Given the description of an element on the screen output the (x, y) to click on. 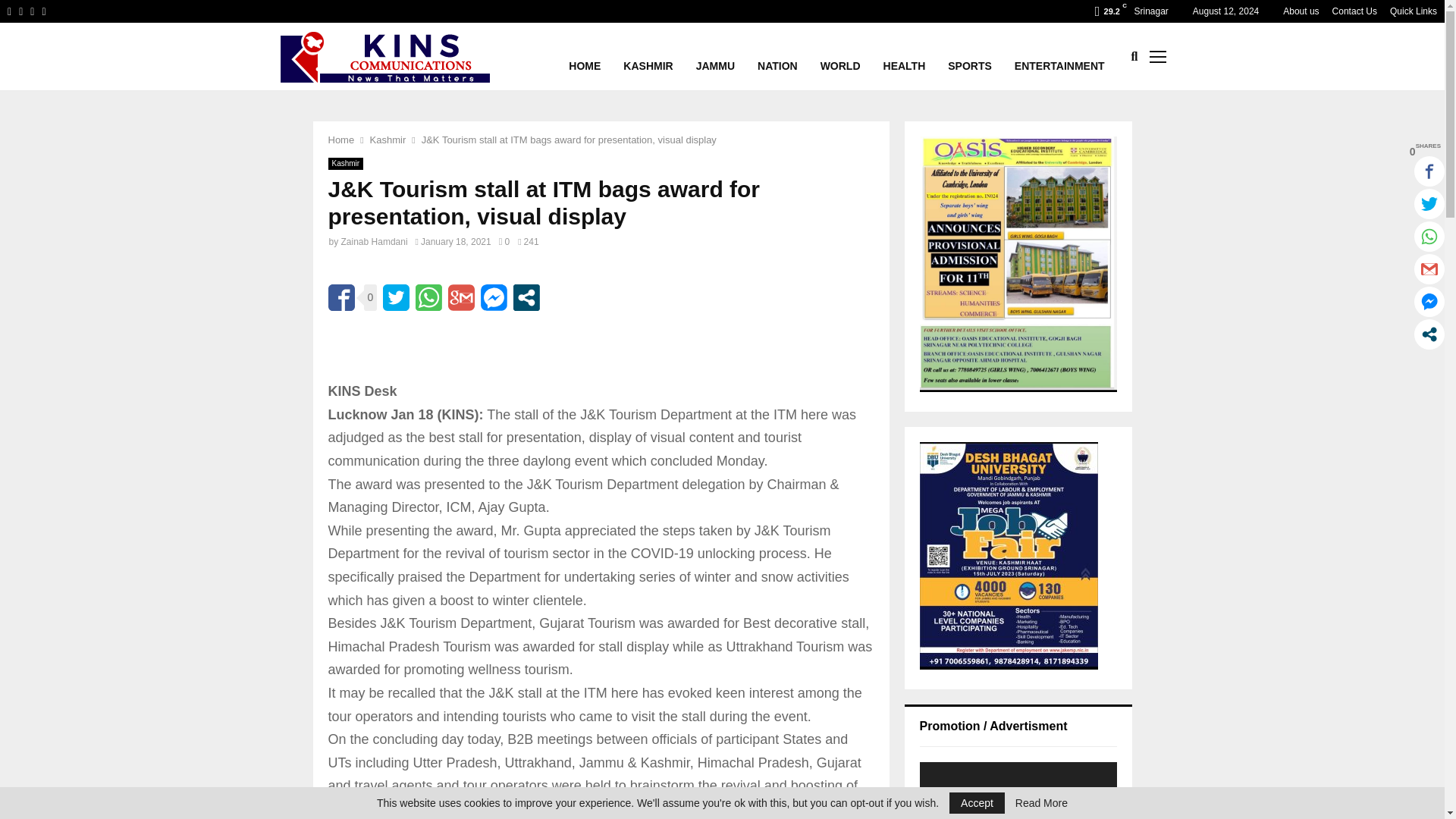
About us (1300, 11)
Home (340, 139)
Zainab Hamdani (373, 241)
Quick Links (1413, 11)
Kashmir (387, 139)
Open modal social networks (526, 297)
Contact Us (1354, 11)
ENTERTAINMENT (1059, 56)
Share on WhatsApp (428, 297)
Send on Facebook Messenger (493, 297)
